Given the description of an element on the screen output the (x, y) to click on. 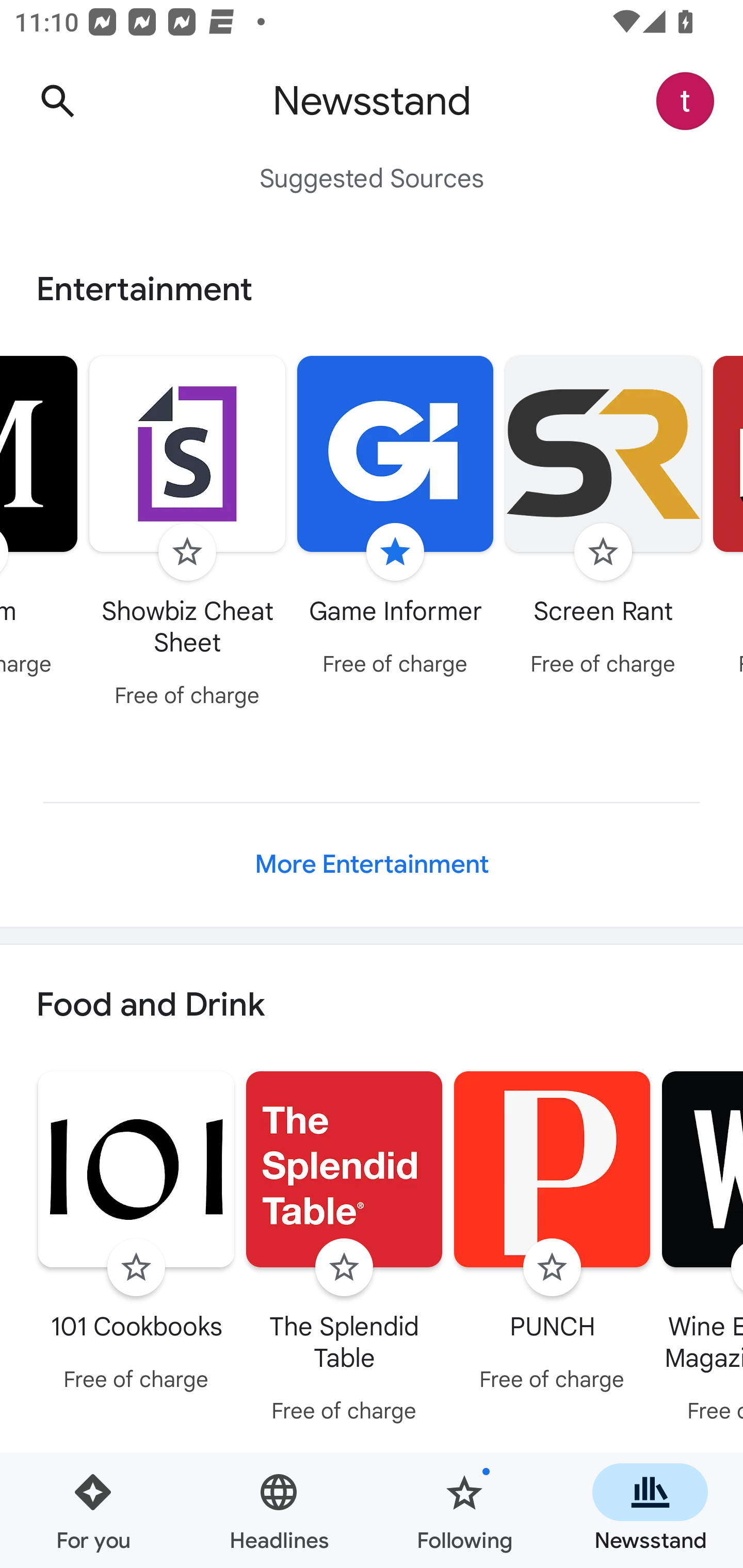
Search (57, 100)
Entertainment (371, 288)
Follow Showbiz Cheat Sheet Free of charge (187, 534)
Unfollow Game Informer Free of charge (395, 517)
Follow Screen Rant Free of charge (603, 517)
Follow (187, 551)
Unfollow (395, 551)
Follow (603, 551)
More Entertainment (371, 864)
Food and Drink (371, 1005)
Follow 101 Cookbooks Free of charge (136, 1234)
Follow The Splendid Table Free of charge (344, 1250)
Follow PUNCH Free of charge (552, 1234)
Follow (135, 1267)
Follow (343, 1267)
Follow (552, 1267)
For you (92, 1509)
Headlines (278, 1509)
Following (464, 1509)
Newsstand (650, 1509)
